Given the description of an element on the screen output the (x, y) to click on. 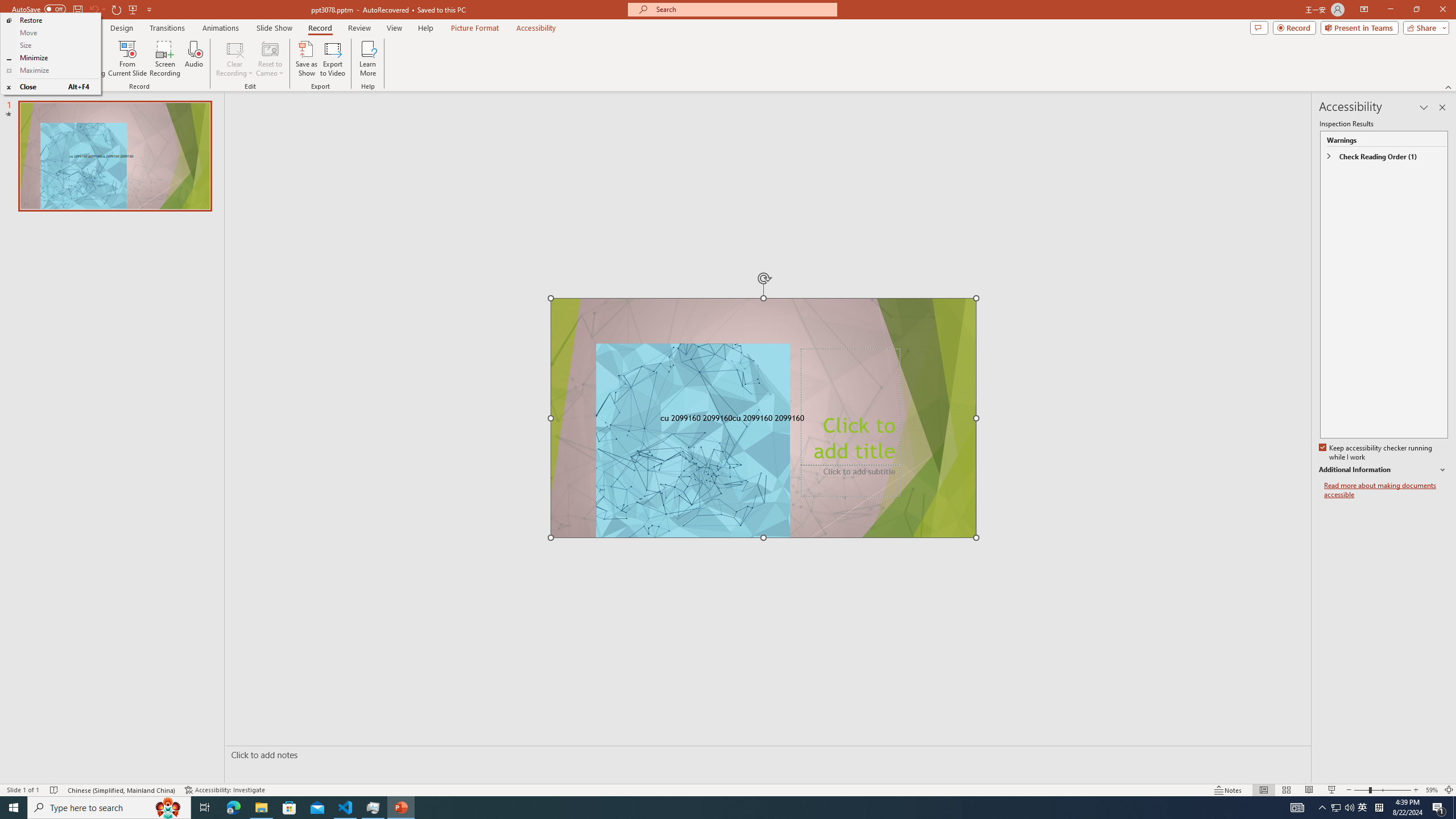
Size (50, 45)
